Given the description of an element on the screen output the (x, y) to click on. 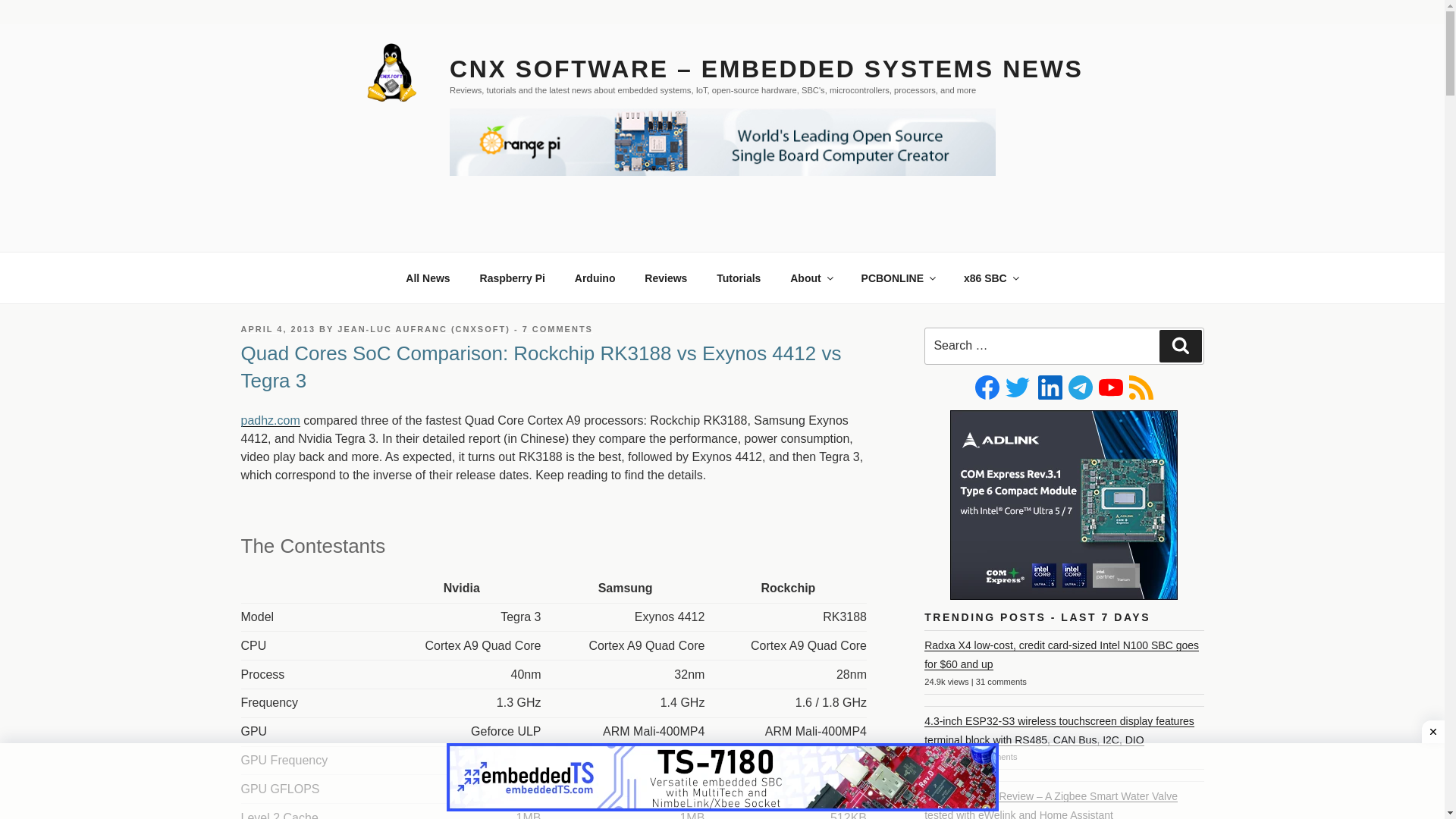
About (810, 278)
Telegram (1080, 387)
Facebook (986, 387)
x86 SBC (990, 278)
LinkedIn (1050, 387)
Arduino (594, 278)
Twitter (1017, 387)
Tutorials (738, 278)
PCBONLINE (897, 278)
All News (428, 278)
Purchase PCBs from our sponsor (897, 278)
Raspberry Pi (511, 278)
Reviews (665, 278)
YouTube (1110, 387)
